Given the description of an element on the screen output the (x, y) to click on. 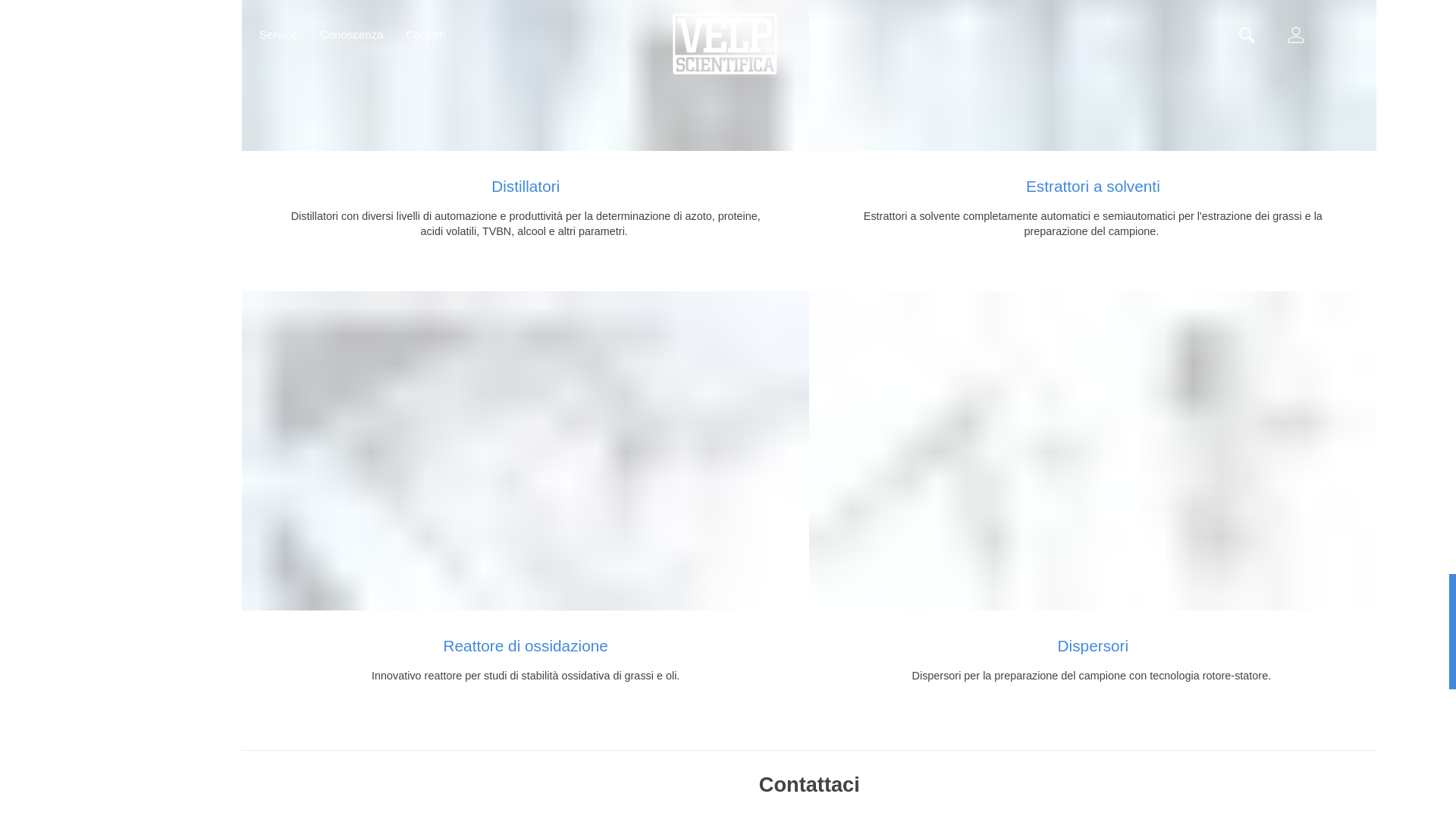
Estrattori a solventi (1092, 75)
Distillatori  (525, 75)
